Given the description of an element on the screen output the (x, y) to click on. 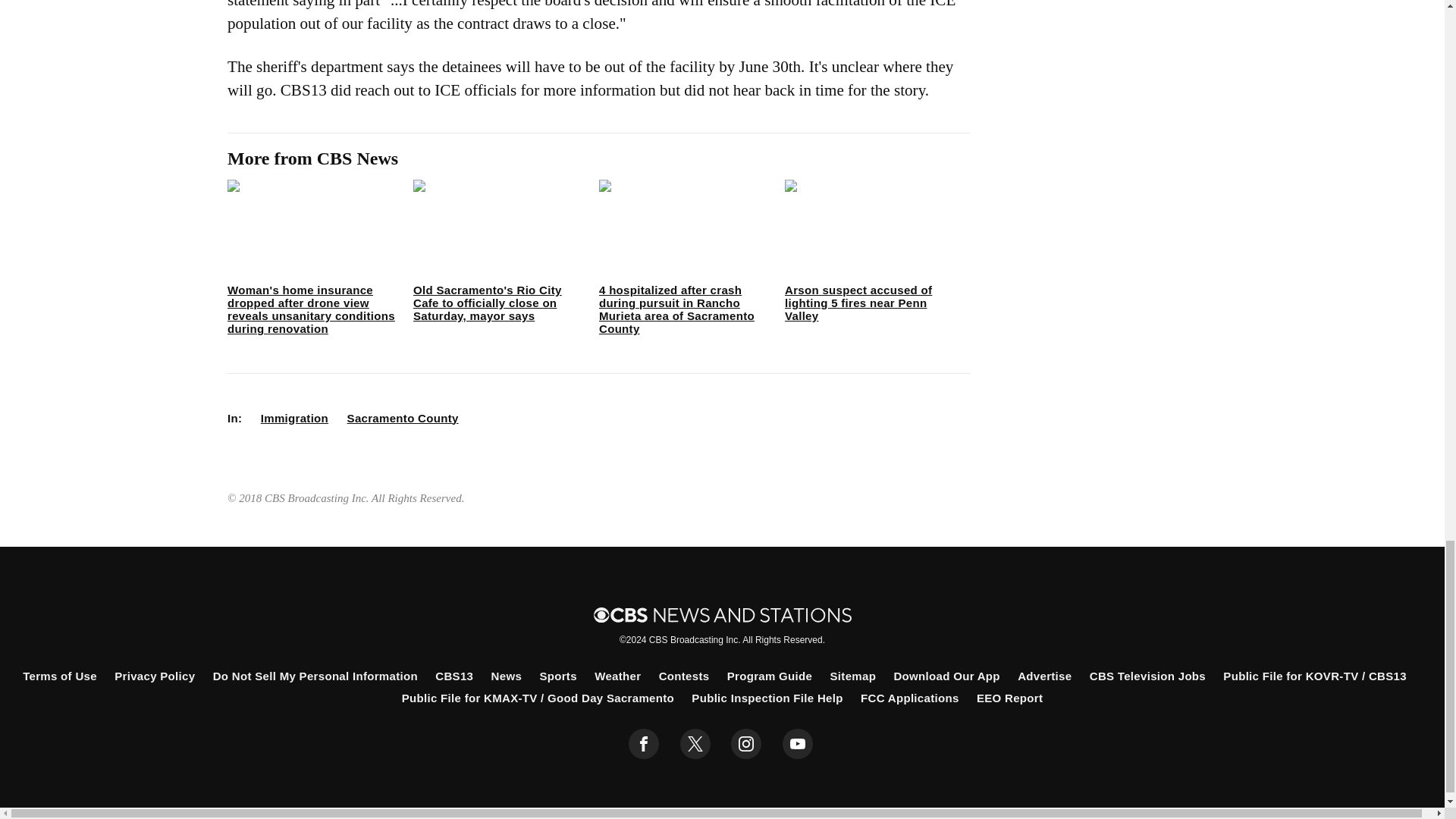
instagram (745, 743)
facebook (643, 743)
youtube (797, 743)
twitter (694, 743)
